Given the description of an element on the screen output the (x, y) to click on. 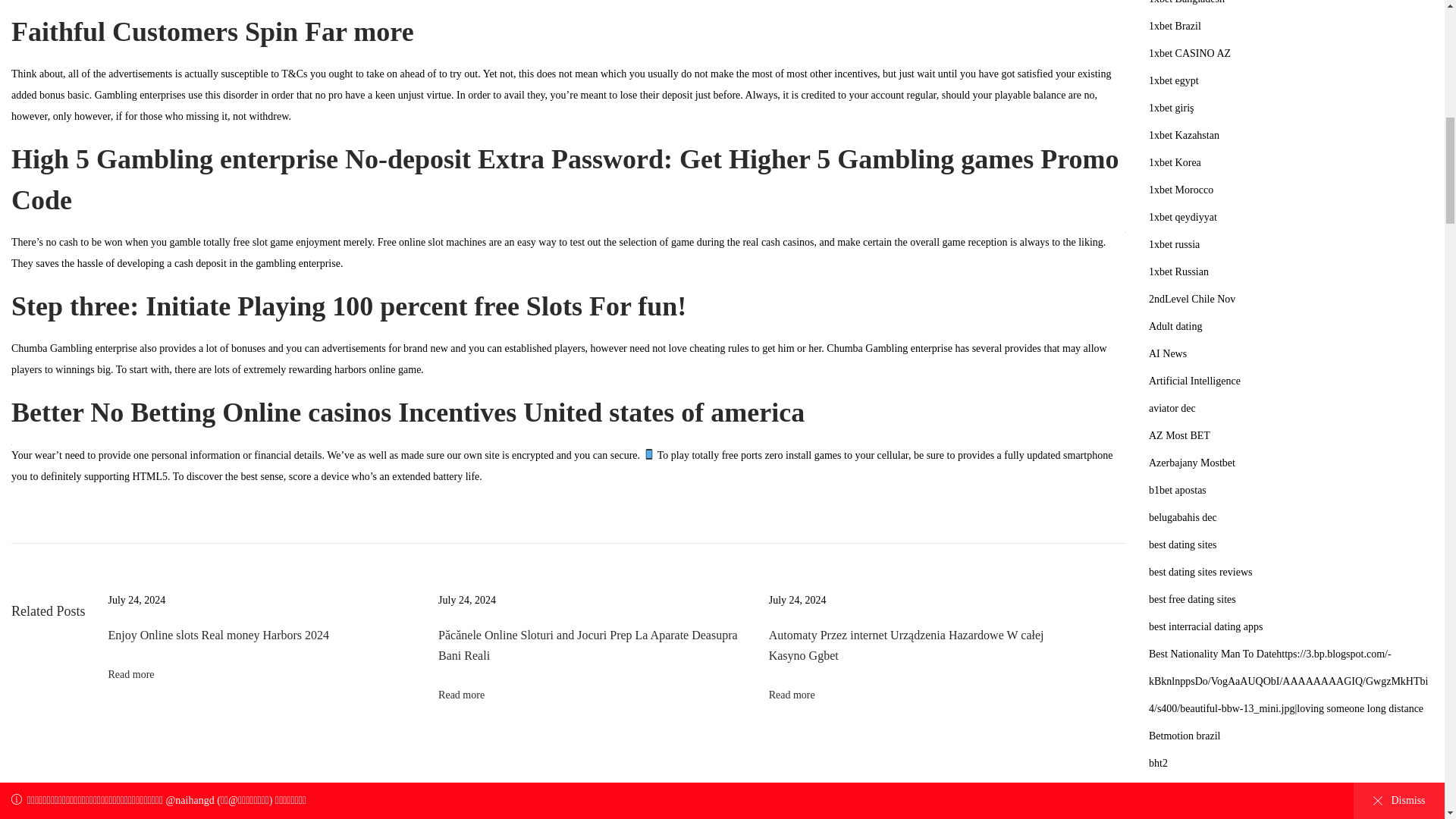
Read more (130, 674)
Read more (461, 695)
Enjoy Online slots Real money Harbors 2024 (218, 634)
Read more (791, 695)
